Given the description of an element on the screen output the (x, y) to click on. 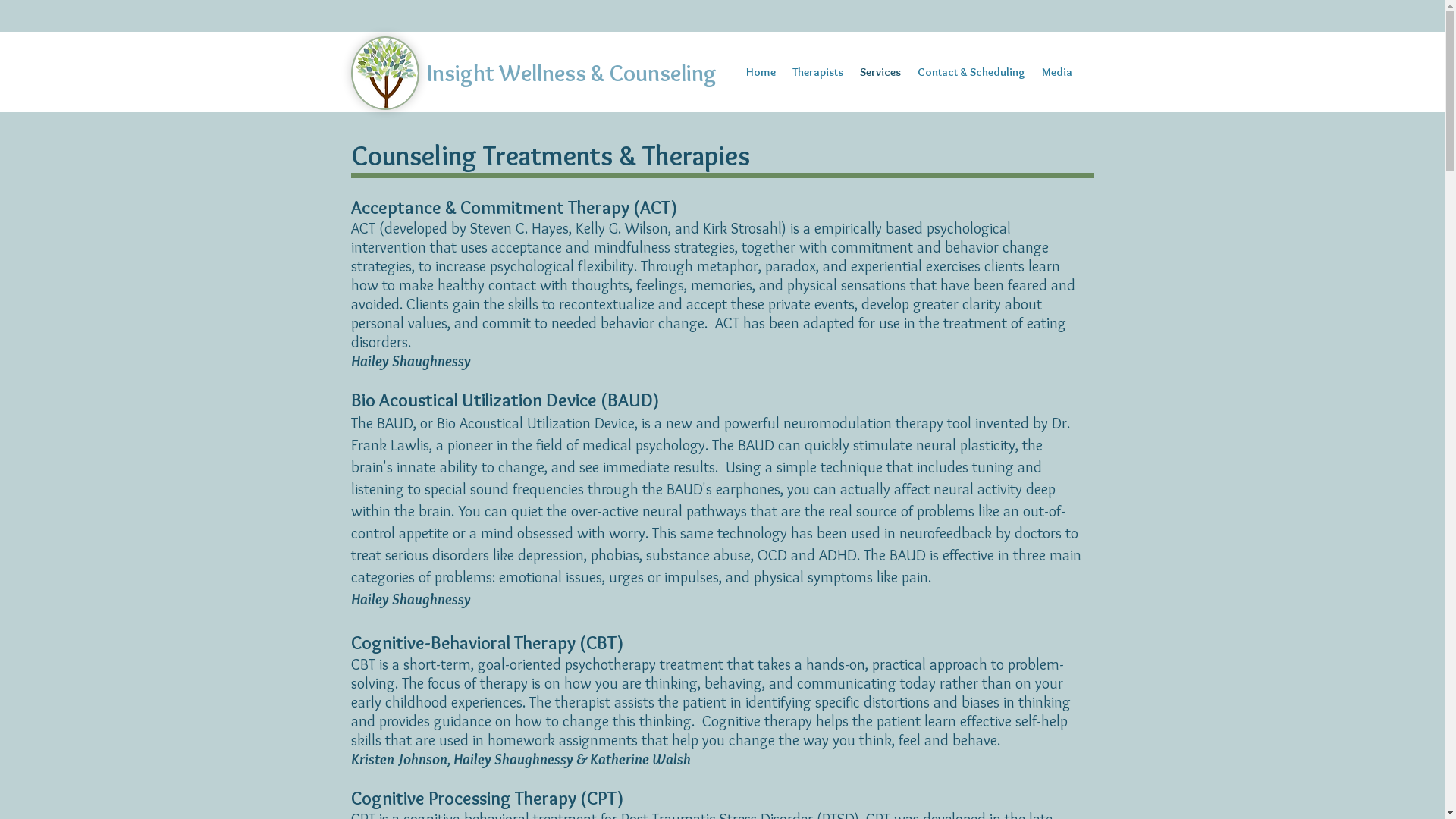
Therapists Element type: text (817, 71)
Media Element type: text (1055, 71)
Services Element type: text (879, 71)
Contact & Scheduling Element type: text (970, 71)
Home Element type: text (760, 71)
